Given the description of an element on the screen output the (x, y) to click on. 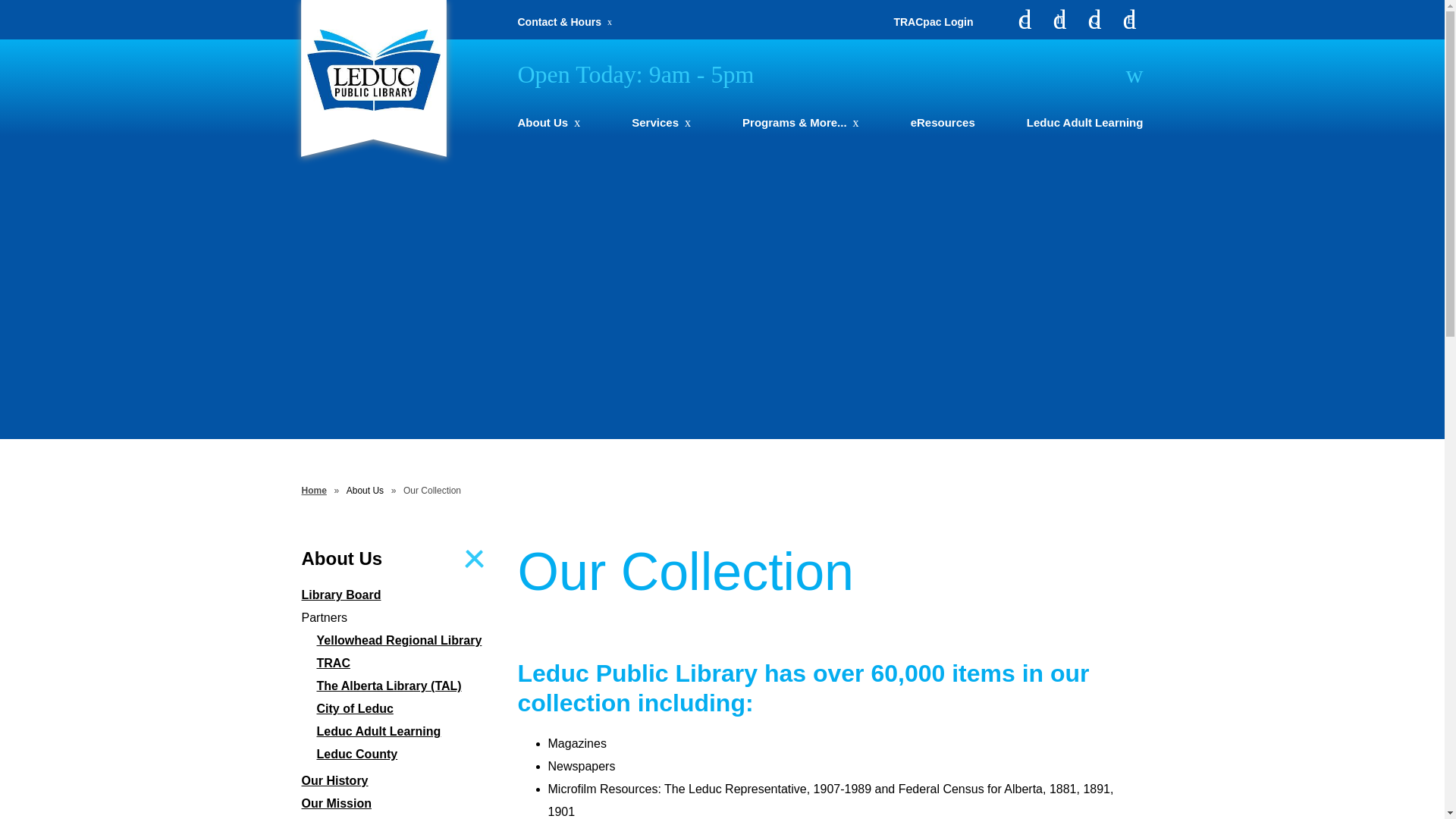
Facebook (1024, 19)
Newsletter sign up (1129, 19)
Services (660, 121)
About Us (547, 121)
Instagram (1059, 19)
Youtube (1094, 19)
Leduc Public Library (372, 70)
TRACpac Login (932, 21)
